Given the description of an element on the screen output the (x, y) to click on. 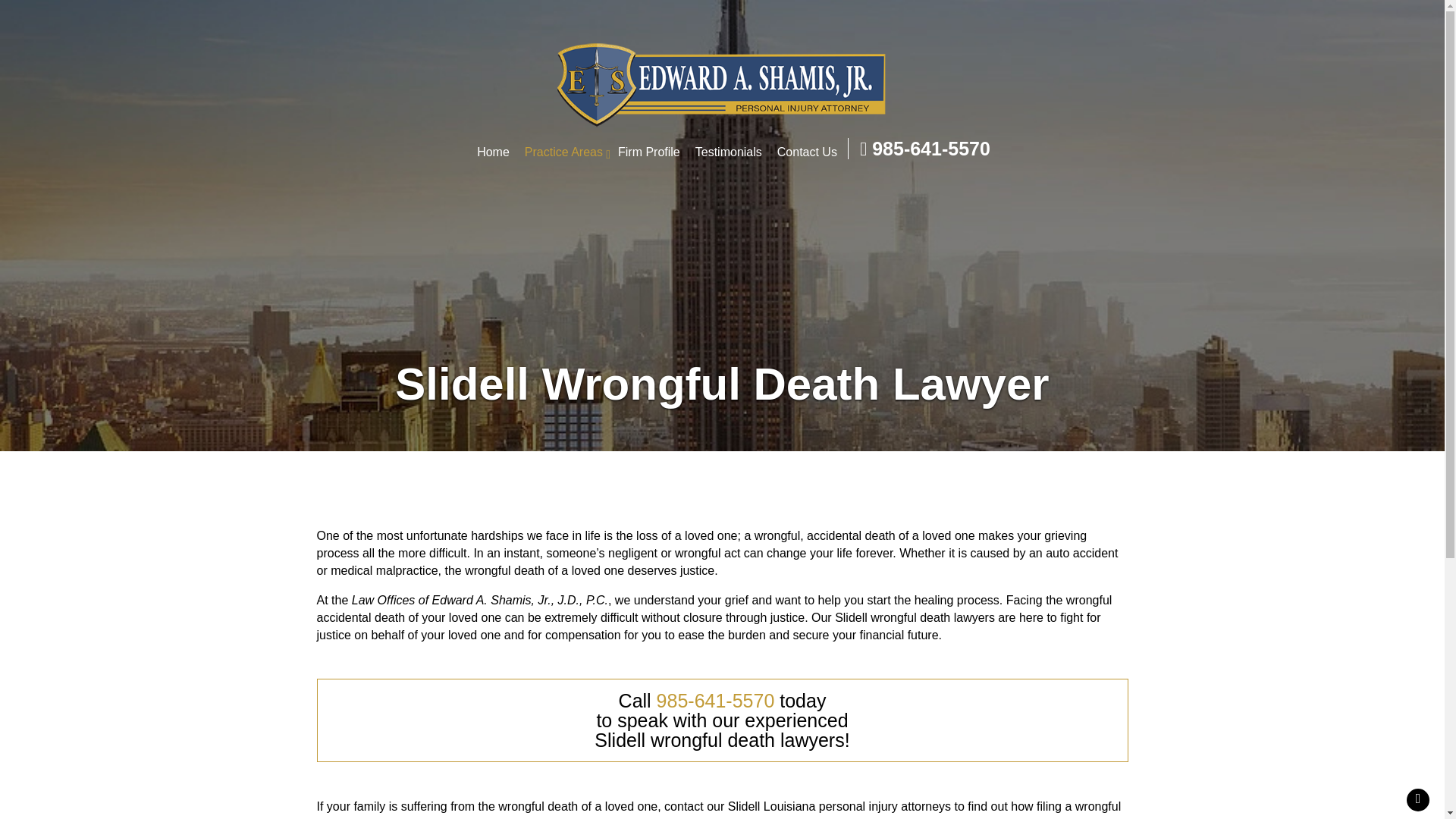
Practice Areas (656, 152)
Home (563, 152)
